Given the description of an element on the screen output the (x, y) to click on. 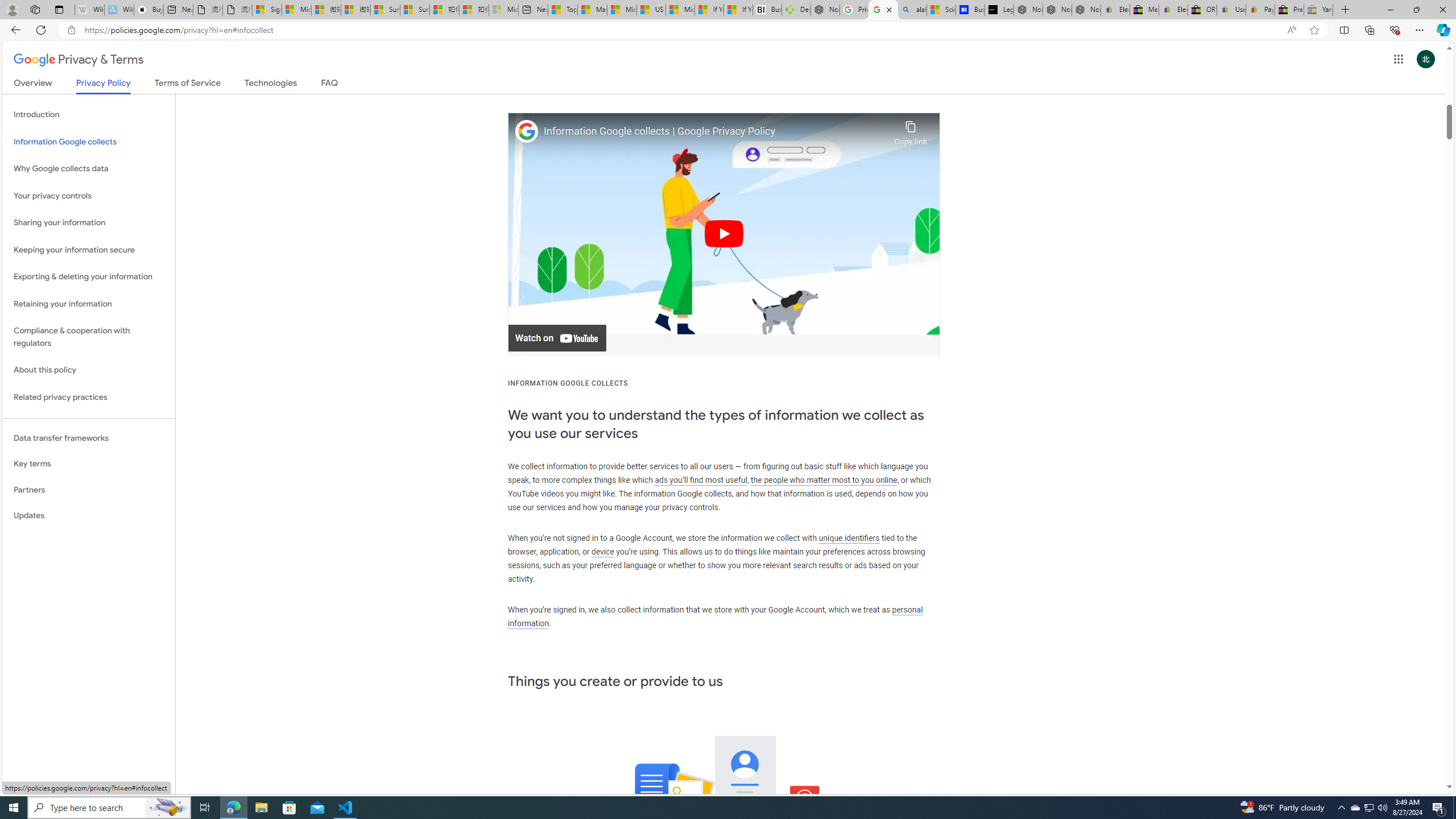
Descarga Driver Updater (796, 9)
Top Stories - MSN (562, 9)
Payments Terms of Use | eBay.com (1259, 9)
Yard, Garden & Outdoor Living - Sleeping (1318, 9)
Marine life - MSN (591, 9)
alabama high school quarterback dies - Search (911, 9)
